Given the description of an element on the screen output the (x, y) to click on. 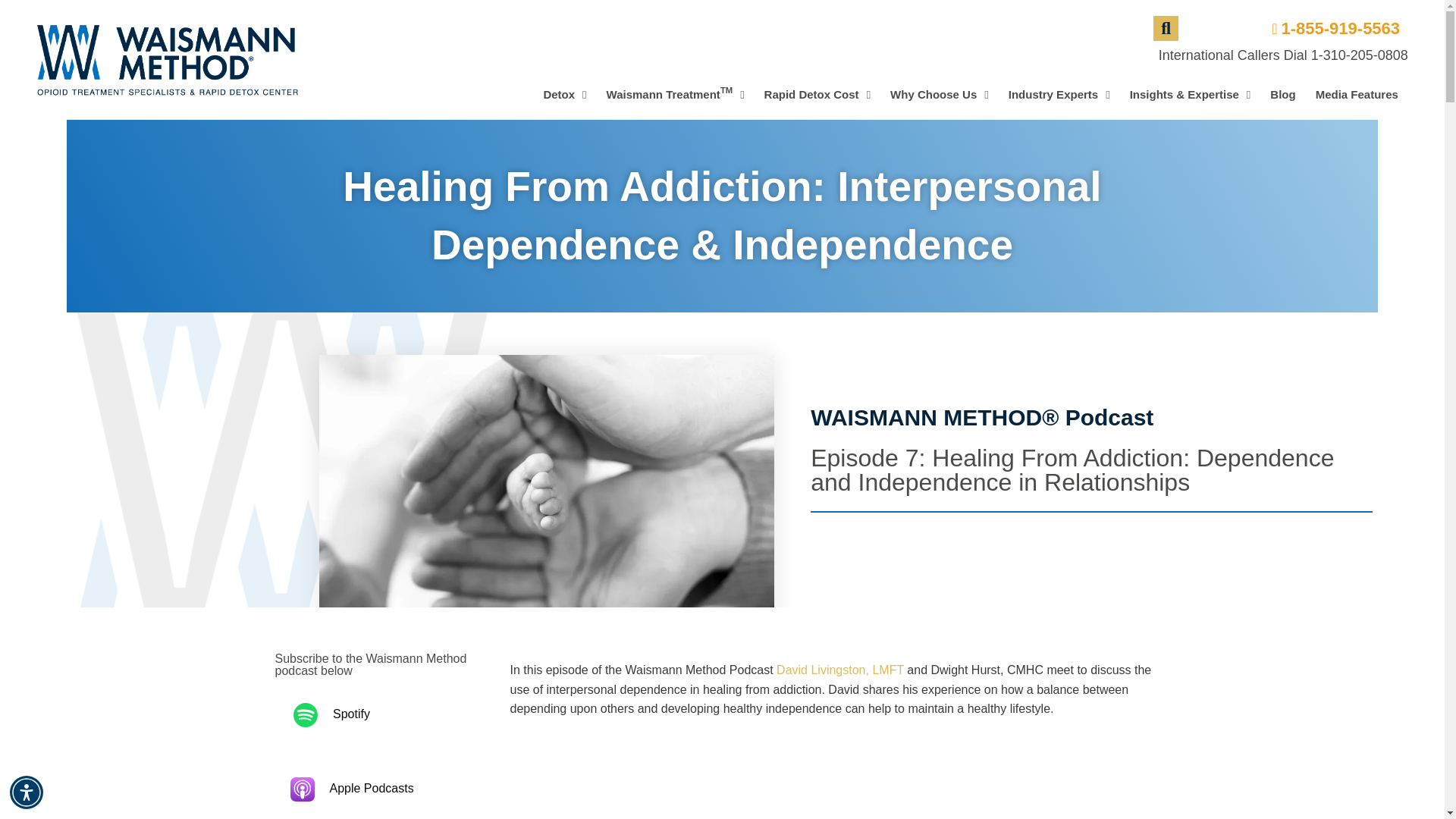
Accessibility Menu (26, 792)
1-310-205-0808 (1359, 55)
Libsyn Player (675, 94)
Why Choose Us (835, 778)
Rapid Detox Cost (939, 94)
1-855-919-5563 (817, 94)
Detox (1329, 27)
